Given the description of an element on the screen output the (x, y) to click on. 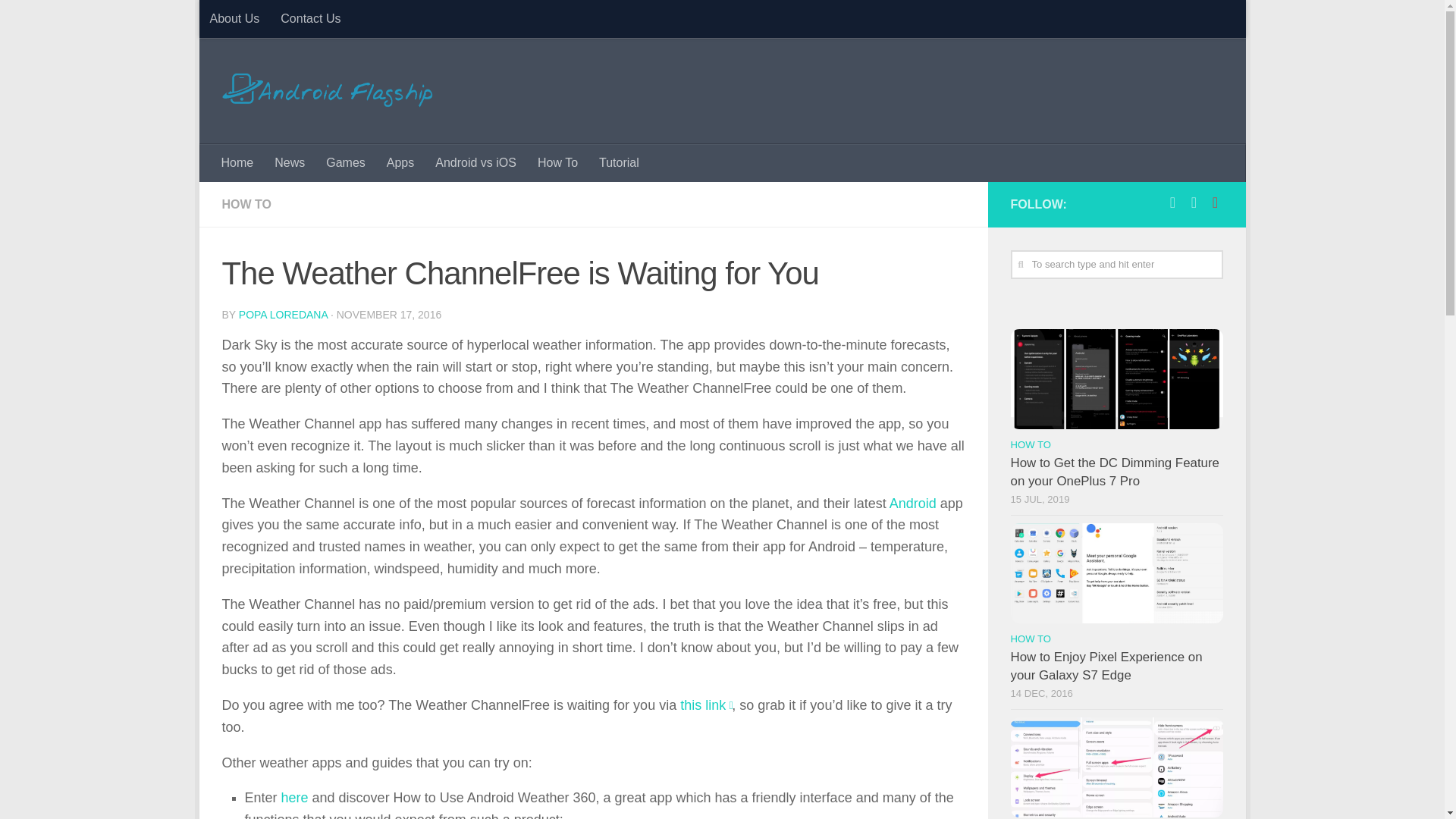
this link (702, 704)
News (289, 162)
About Us (233, 18)
How To (557, 162)
Android (912, 503)
HOW TO (245, 204)
Tutorial (618, 162)
To search type and hit enter (1116, 264)
Follow us on Email-o (1215, 201)
Home (237, 162)
